Given the description of an element on the screen output the (x, y) to click on. 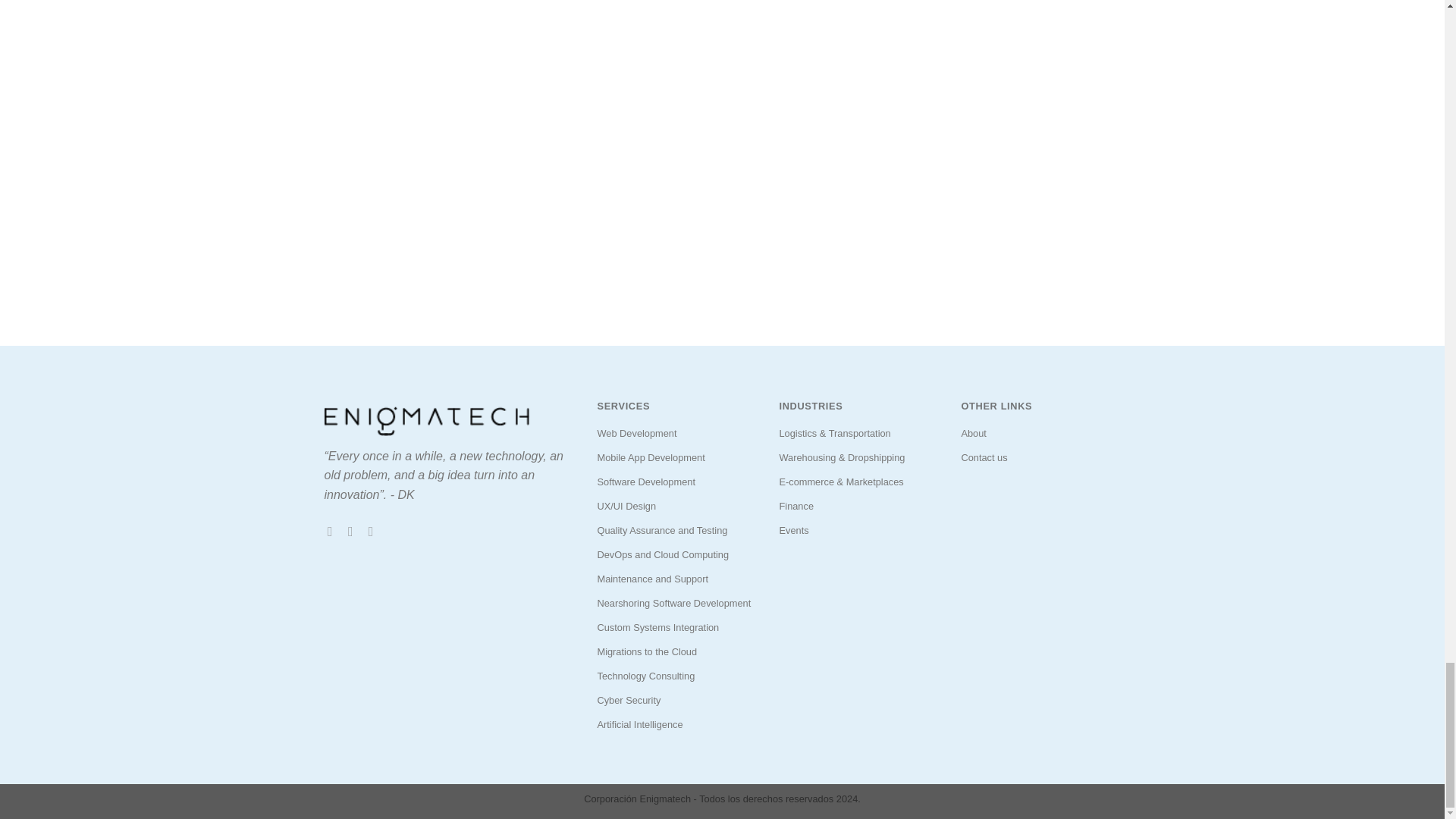
Follow on LinkedIn (374, 531)
Follow on Twitter (354, 531)
Follow on Facebook (333, 531)
